Given the description of an element on the screen output the (x, y) to click on. 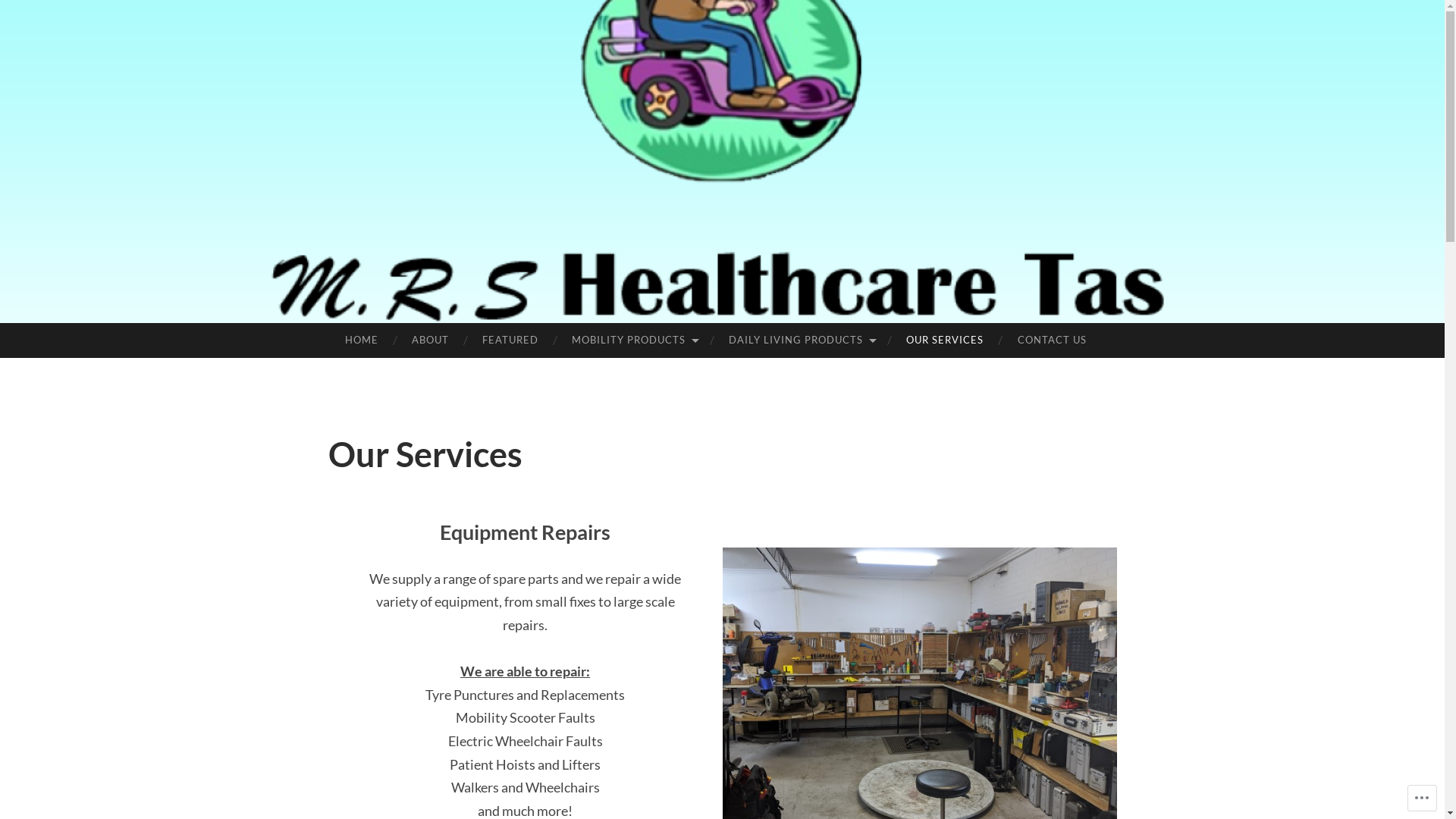
CONTACT US Element type: text (1051, 340)
DAILY LIVING PRODUCTS Element type: text (800, 340)
MRS HEALTHCARE TASSIE Element type: text (768, 360)
ABOUT Element type: text (430, 340)
HOME Element type: text (360, 340)
OUR SERVICES Element type: text (944, 340)
MOBILITY PRODUCTS Element type: text (633, 340)
FEATURED Element type: text (510, 340)
